Given the description of an element on the screen output the (x, y) to click on. 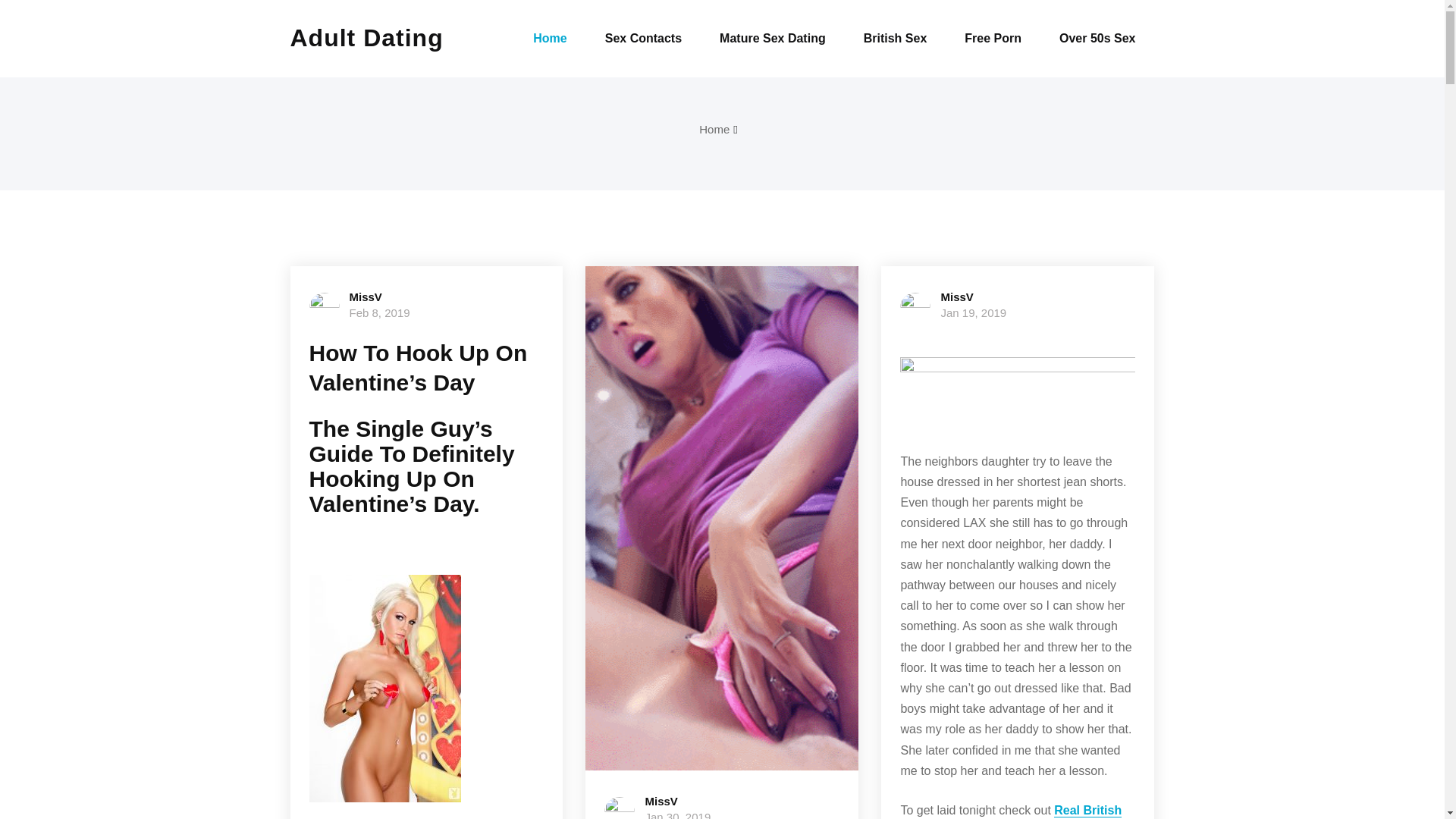
Mature Sex Dating (772, 38)
Sex Contacts (643, 38)
Free Porn (992, 38)
Feb 8, 2019 (379, 312)
Home (713, 128)
Over 50s Sex (1097, 38)
MissV (365, 296)
Adult Dating (377, 38)
British Sex (895, 38)
